Given the description of an element on the screen output the (x, y) to click on. 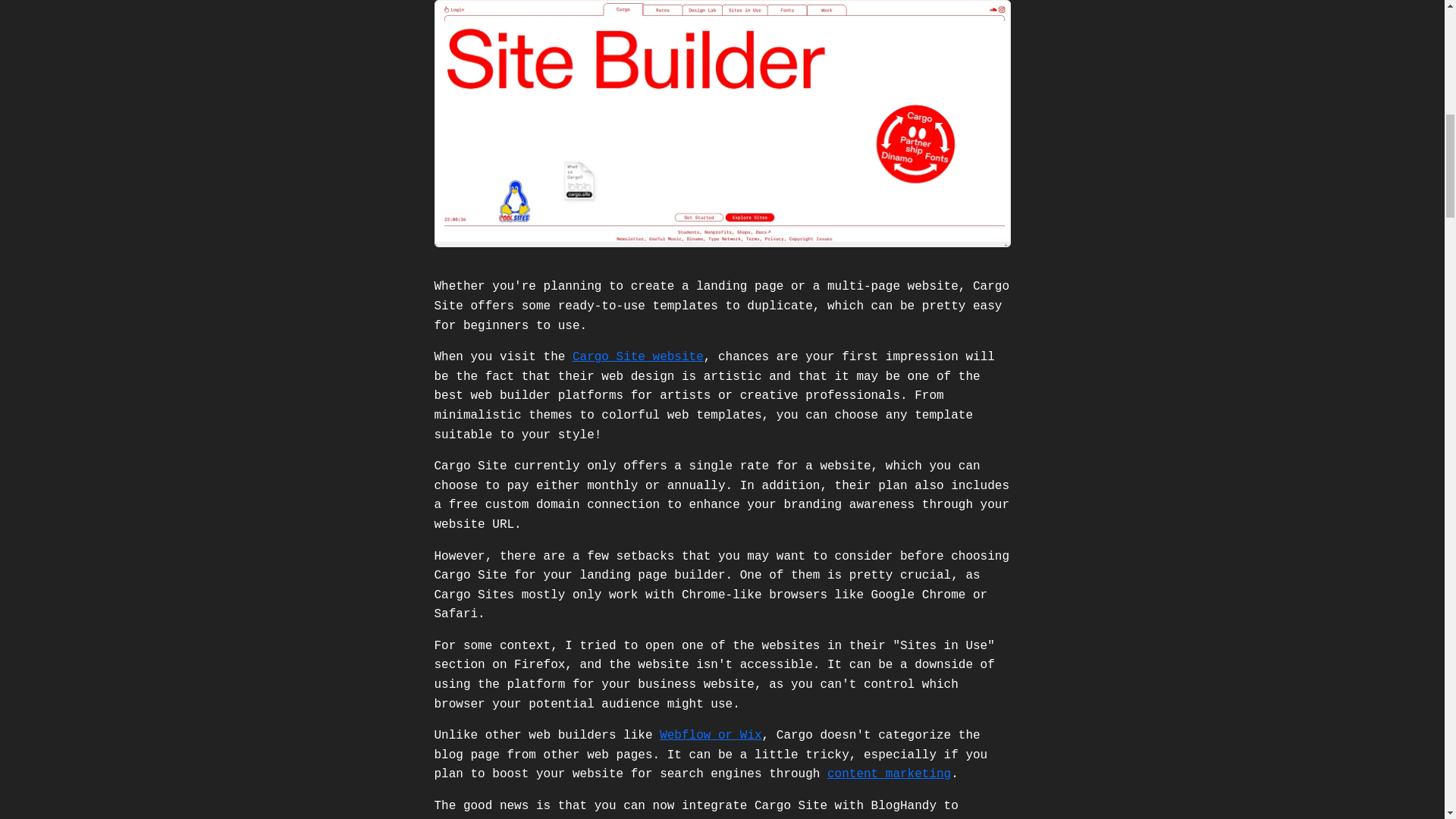
Cargo Site website (637, 356)
content marketing (888, 774)
Webflow or Wix (710, 735)
